Given the description of an element on the screen output the (x, y) to click on. 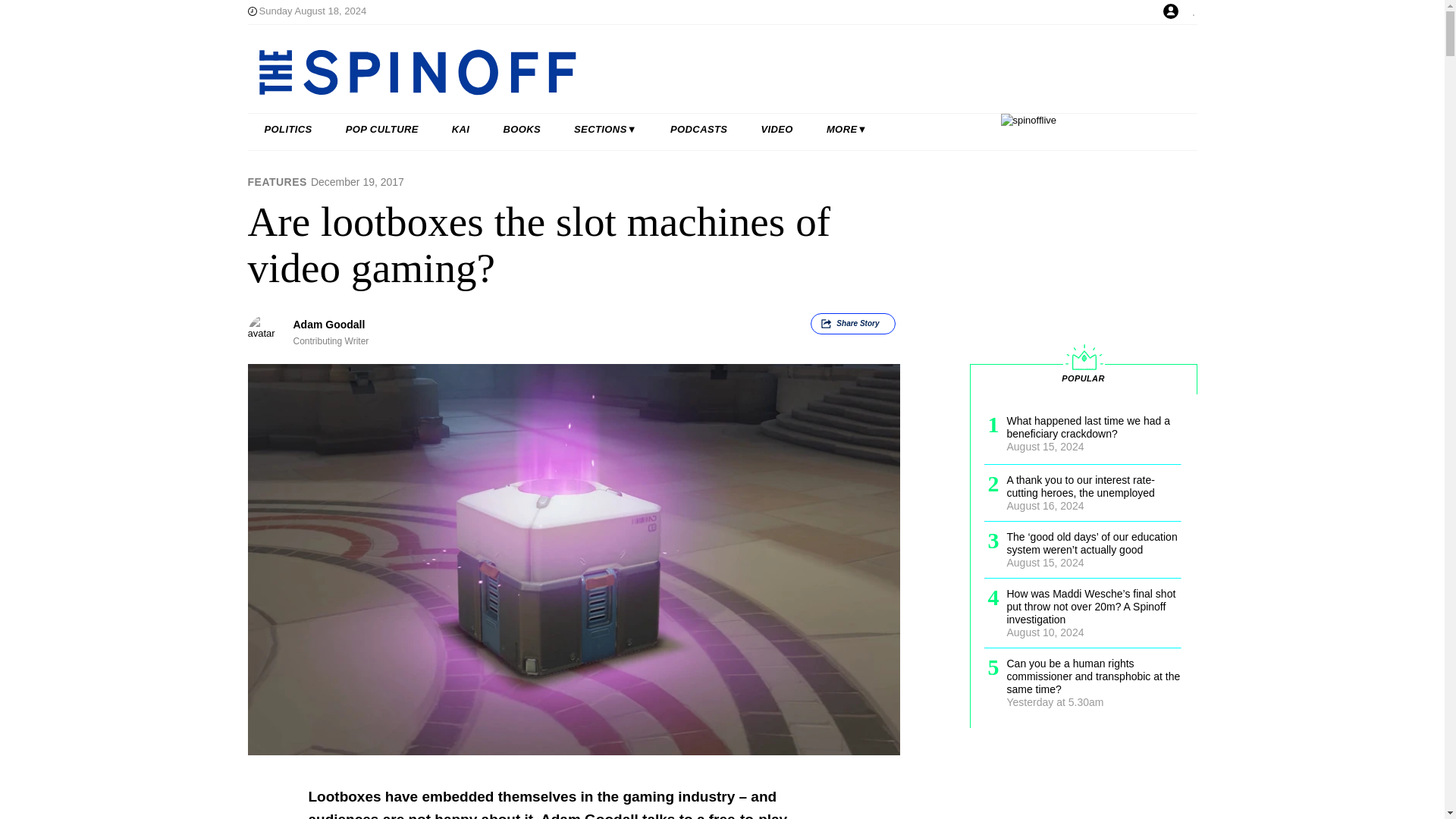
MORE (846, 129)
VIDEO (776, 129)
KAI (460, 129)
BOOKS (521, 129)
POLITICS (288, 129)
SECTIONS (605, 129)
PODCASTS (698, 129)
The Spinoff (673, 72)
view all posts by Adam Goodall (328, 324)
POP CULTURE (382, 129)
